Given the description of an element on the screen output the (x, y) to click on. 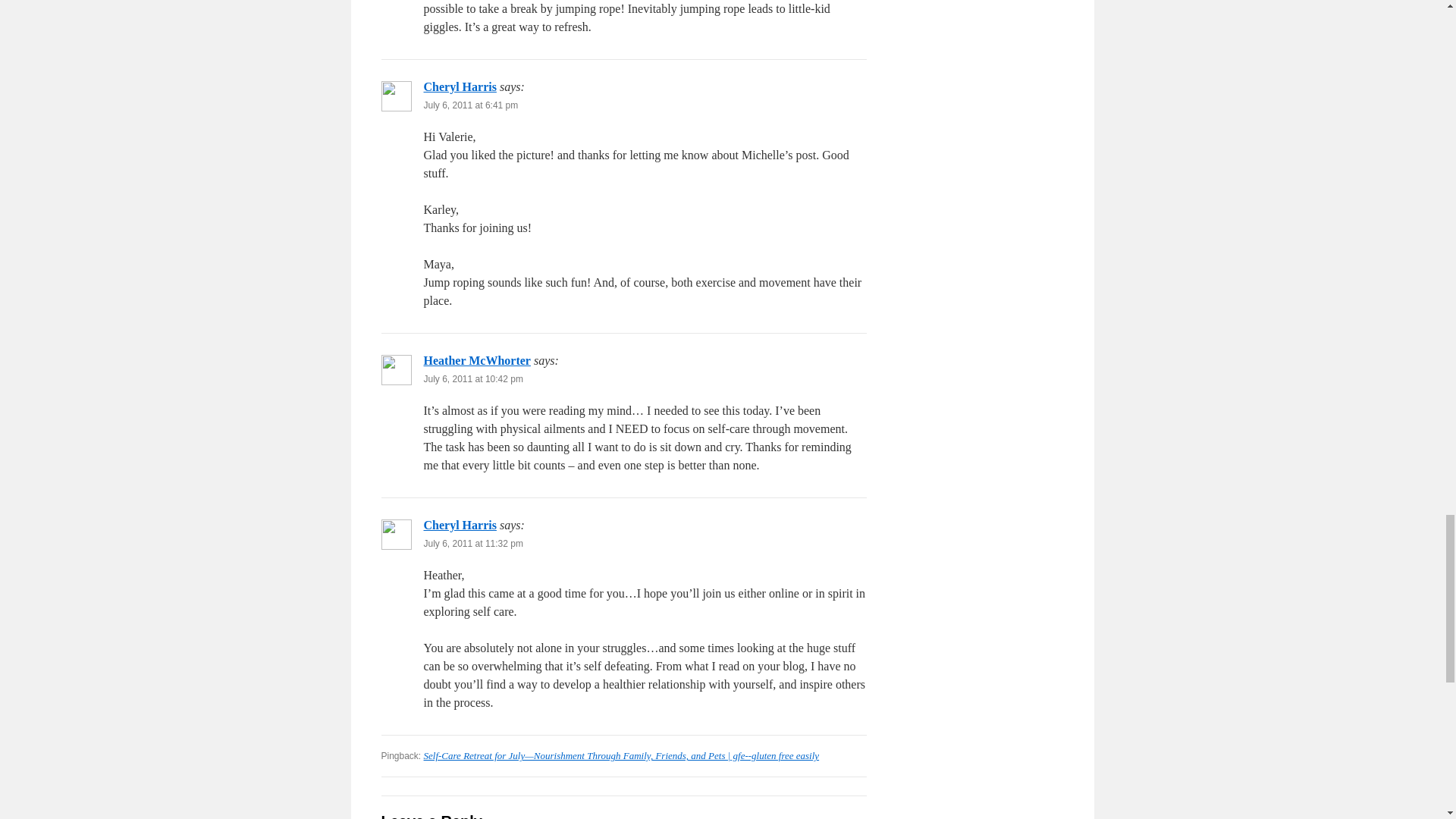
July 6, 2011 at 6:41 pm (470, 104)
July 6, 2011 at 10:42 pm (472, 378)
Heather McWhorter (476, 359)
Cheryl Harris (459, 86)
July 6, 2011 at 11:32 pm (472, 543)
Cheryl Harris (459, 524)
